Given the description of an element on the screen output the (x, y) to click on. 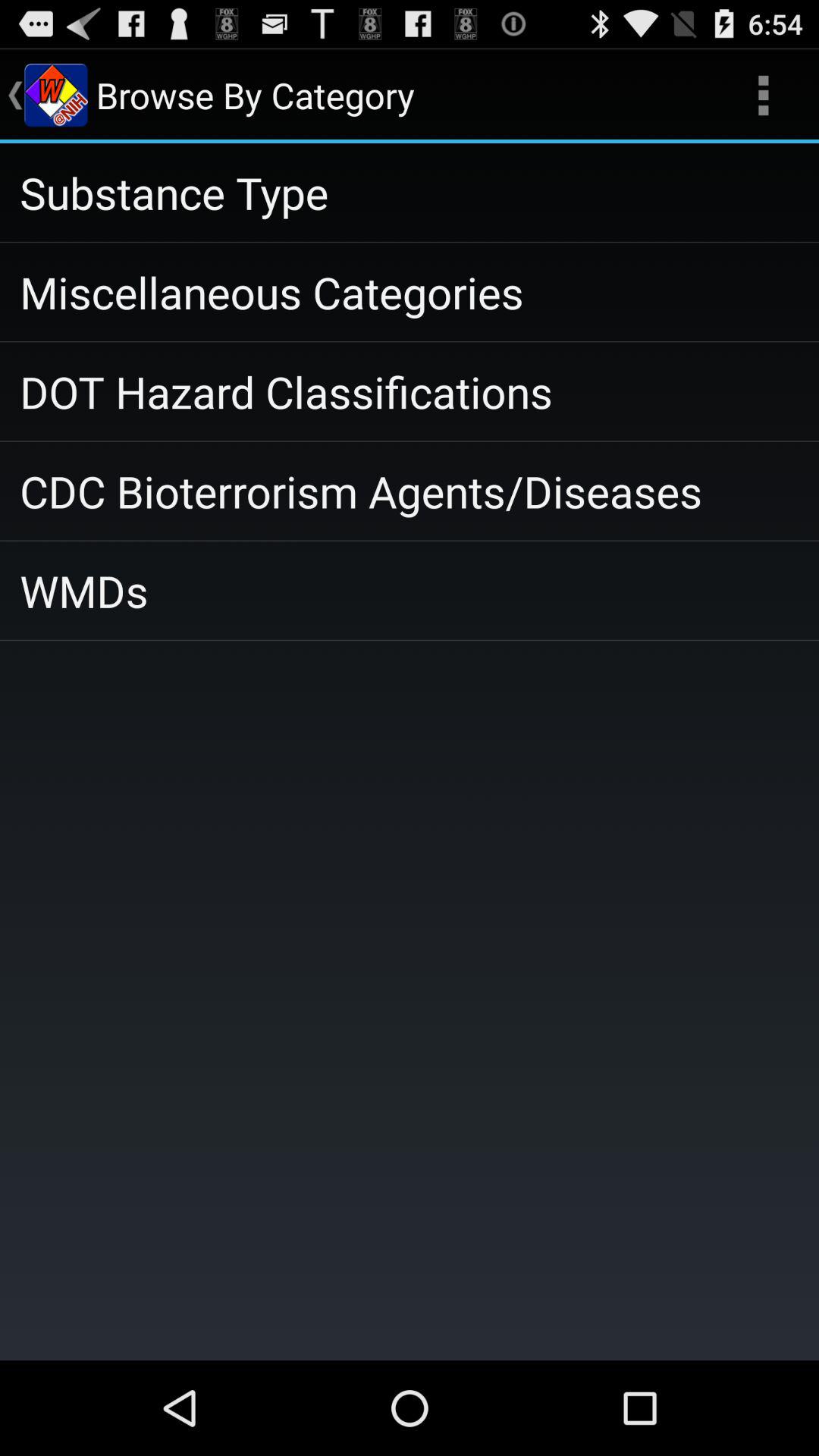
turn off icon below the dot hazard classifications (409, 490)
